Given the description of an element on the screen output the (x, y) to click on. 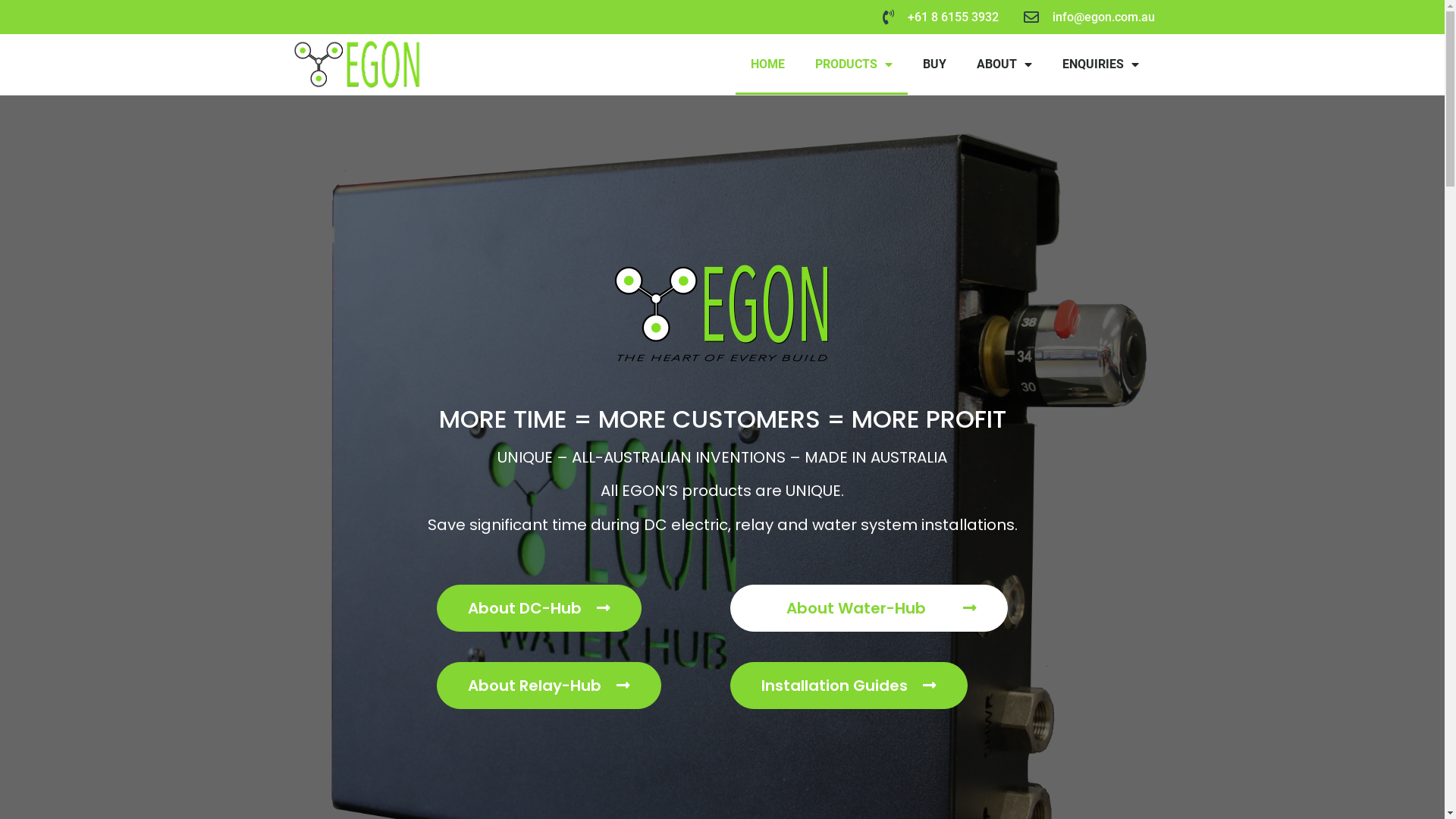
About Water-Hub Element type: text (868, 607)
ABOUT Element type: text (1004, 64)
info@egon.com.au Element type: text (1086, 16)
ENQUIRIES Element type: text (1100, 64)
PRODUCTS Element type: text (853, 64)
HOME Element type: text (767, 64)
BUY Element type: text (934, 64)
About Relay-Hub Element type: text (548, 685)
About DC-Hub Element type: text (538, 607)
+61 8 6155 3932 Element type: text (936, 16)
Installation Guides Element type: text (847, 685)
